Given the description of an element on the screen output the (x, y) to click on. 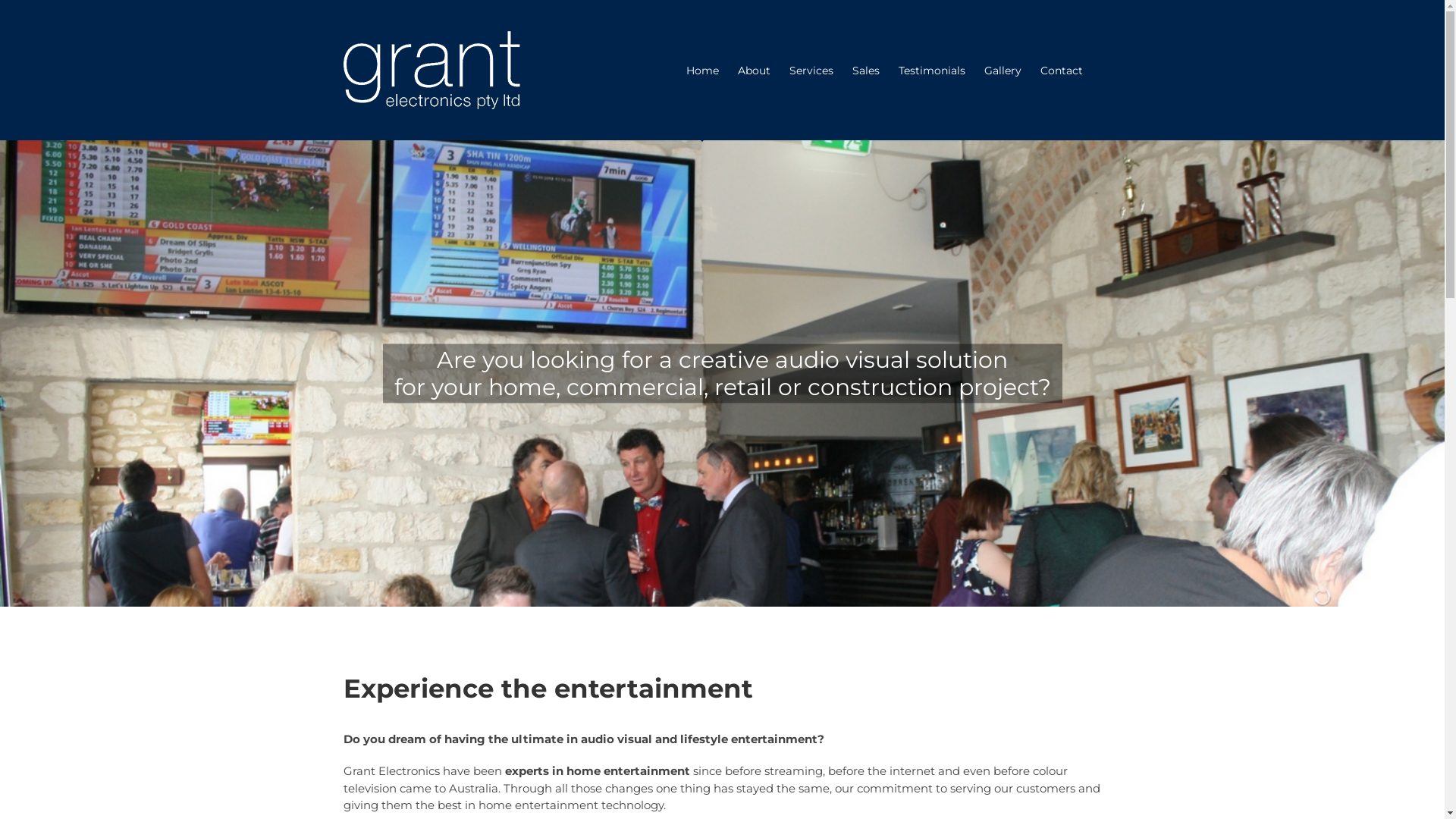
Gallery Element type: text (1002, 69)
Sales Element type: text (865, 69)
About Element type: text (753, 69)
Home Element type: text (701, 69)
Contact Element type: text (1061, 69)
Testimonials Element type: text (930, 69)
Services Element type: text (810, 69)
